Given the description of an element on the screen output the (x, y) to click on. 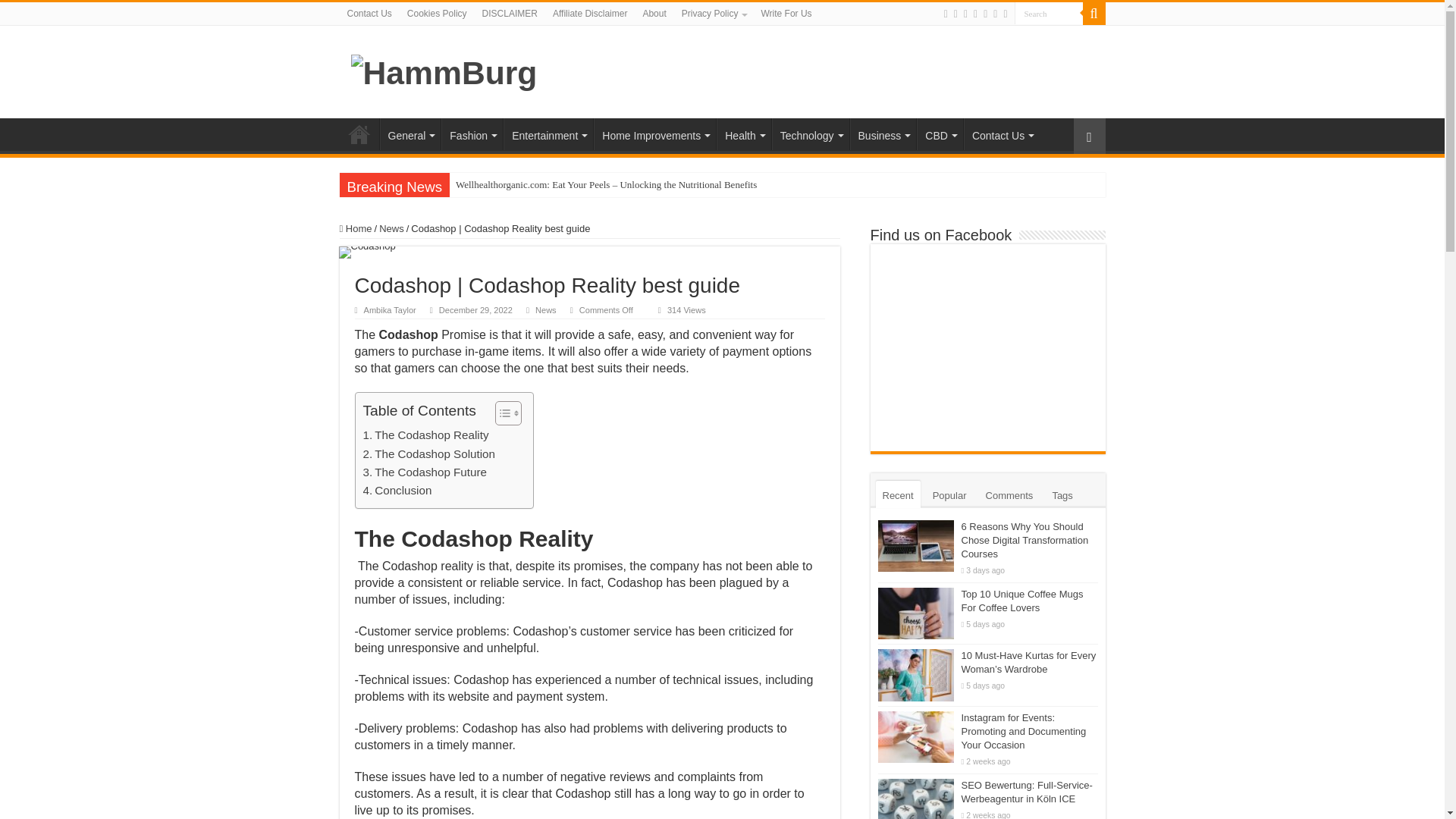
Search (1048, 13)
Search (1048, 13)
Search (1048, 13)
